Given the description of an element on the screen output the (x, y) to click on. 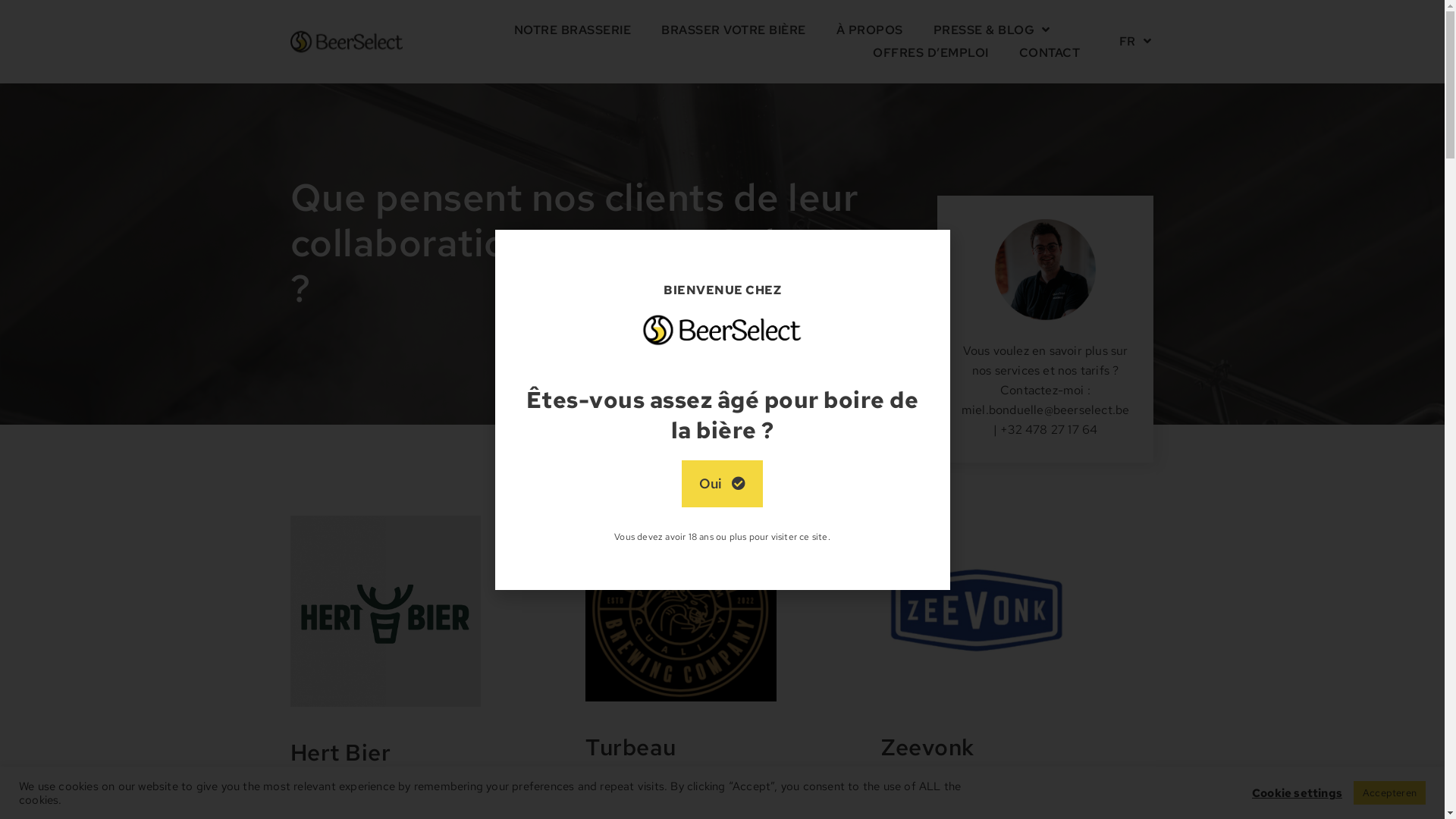
Cookie settings Element type: text (1297, 792)
3fd93bcc95712bdf11e1265af86eed6d Element type: hover (384, 610)
PRESSE & BLOG Element type: text (991, 29)
NOTRE BRASSERIE Element type: text (572, 29)
CONTACT Element type: text (1049, 52)
Oui Element type: text (721, 483)
FR Element type: text (1135, 41)
Accepteren Element type: text (1389, 792)
